Given the description of an element on the screen output the (x, y) to click on. 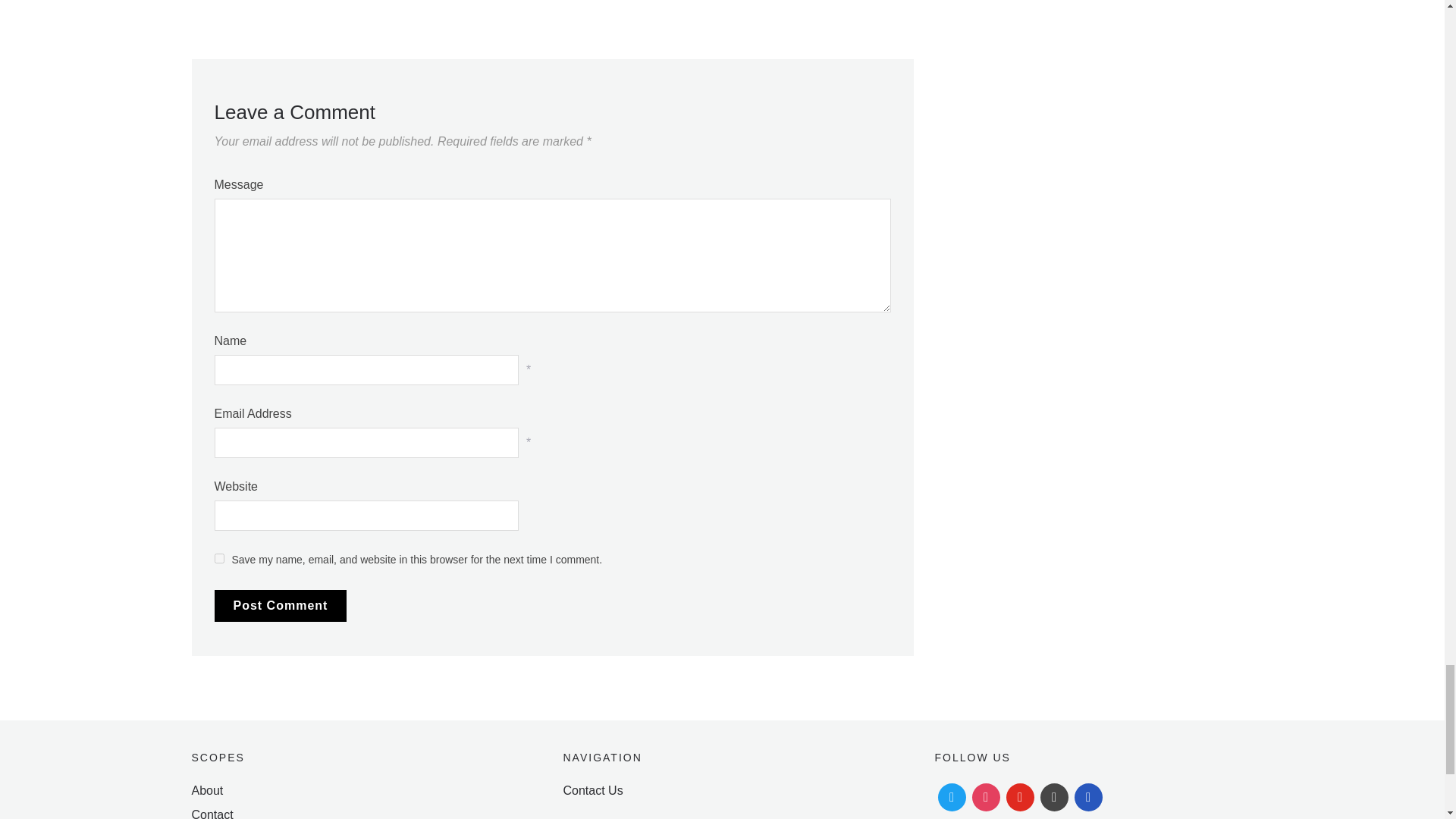
yes (219, 558)
Post Comment (280, 605)
